Given the description of an element on the screen output the (x, y) to click on. 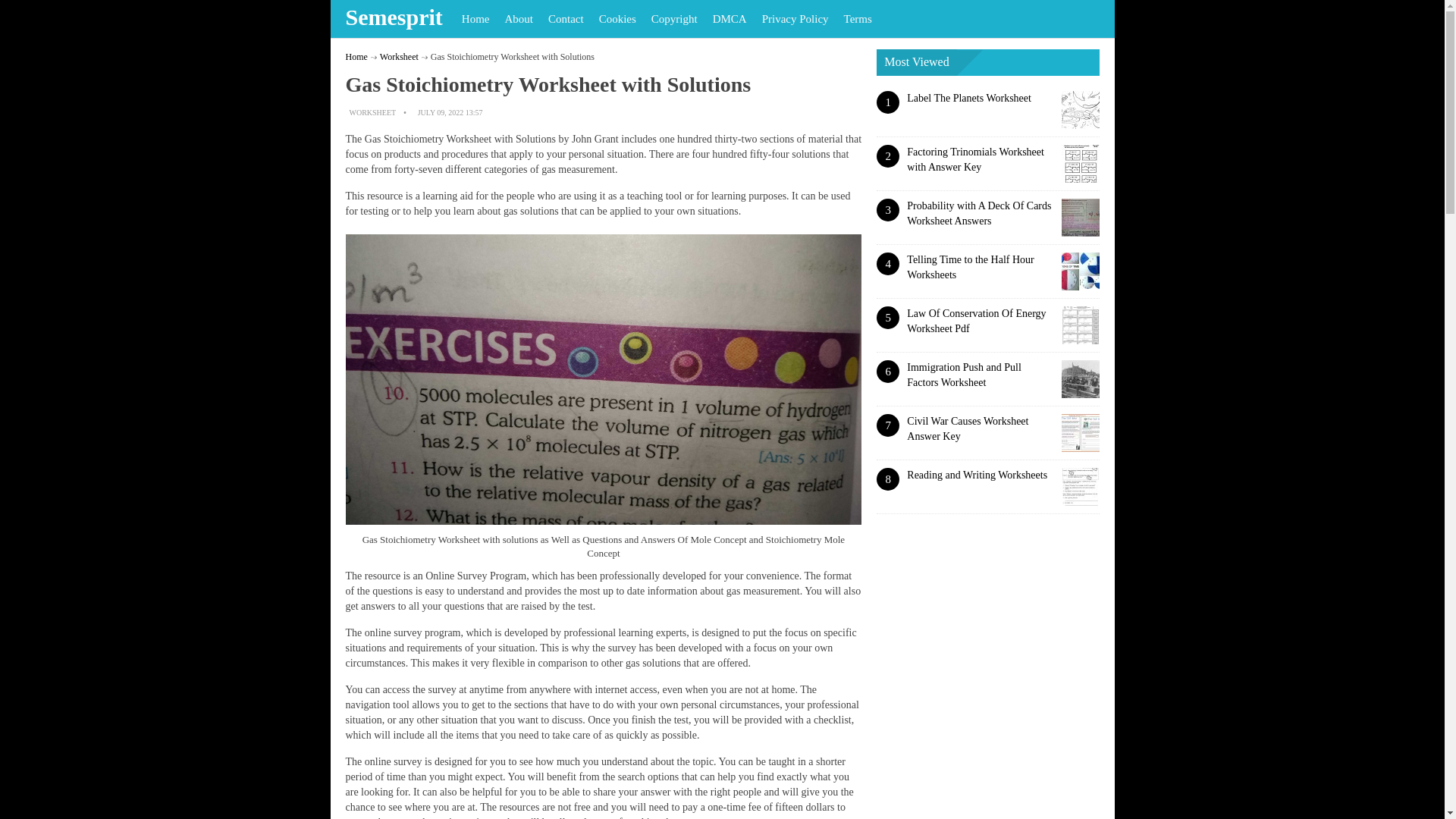
Contact (565, 18)
Label The Planets Worksheet (968, 98)
Privacy Policy (794, 18)
WORKSHEET (372, 112)
Home (357, 56)
DMCA (729, 18)
Telling Time to the Half Hour Worksheets (970, 266)
Probability with A Deck Of Cards Worksheet Answers (979, 212)
Home (475, 18)
Factoring Trinomials Worksheet with Answer Key (975, 159)
Label The Planets Worksheet (968, 98)
Copyright (673, 18)
Cookies (617, 18)
